Given the description of an element on the screen output the (x, y) to click on. 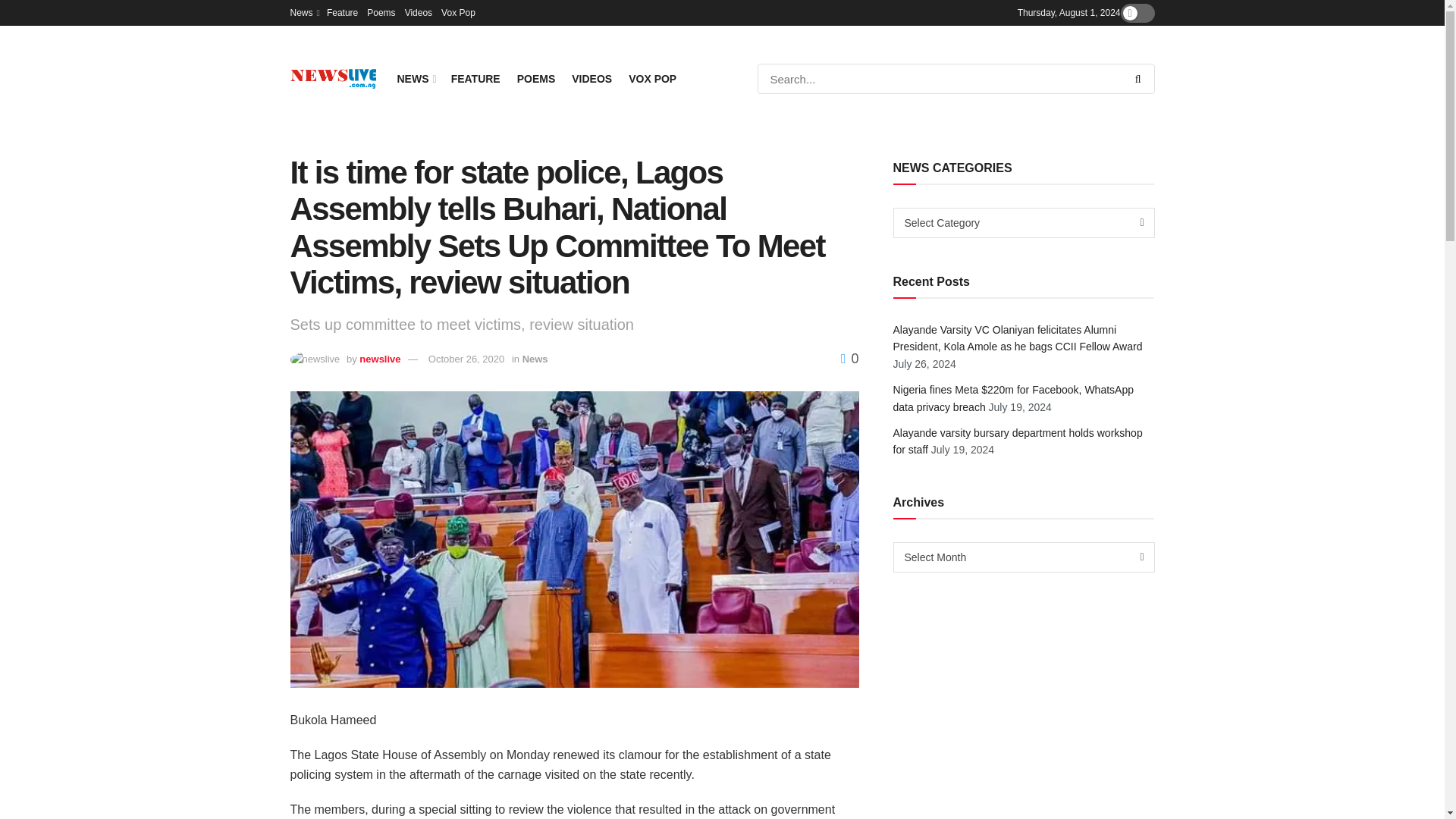
VIDEOS (591, 78)
VOX POP (652, 78)
NEWS (415, 78)
FEATURE (475, 78)
POEMS (536, 78)
Poems (380, 12)
News (303, 12)
Vox Pop (458, 12)
Feature (342, 12)
Videos (418, 12)
